Given the description of an element on the screen output the (x, y) to click on. 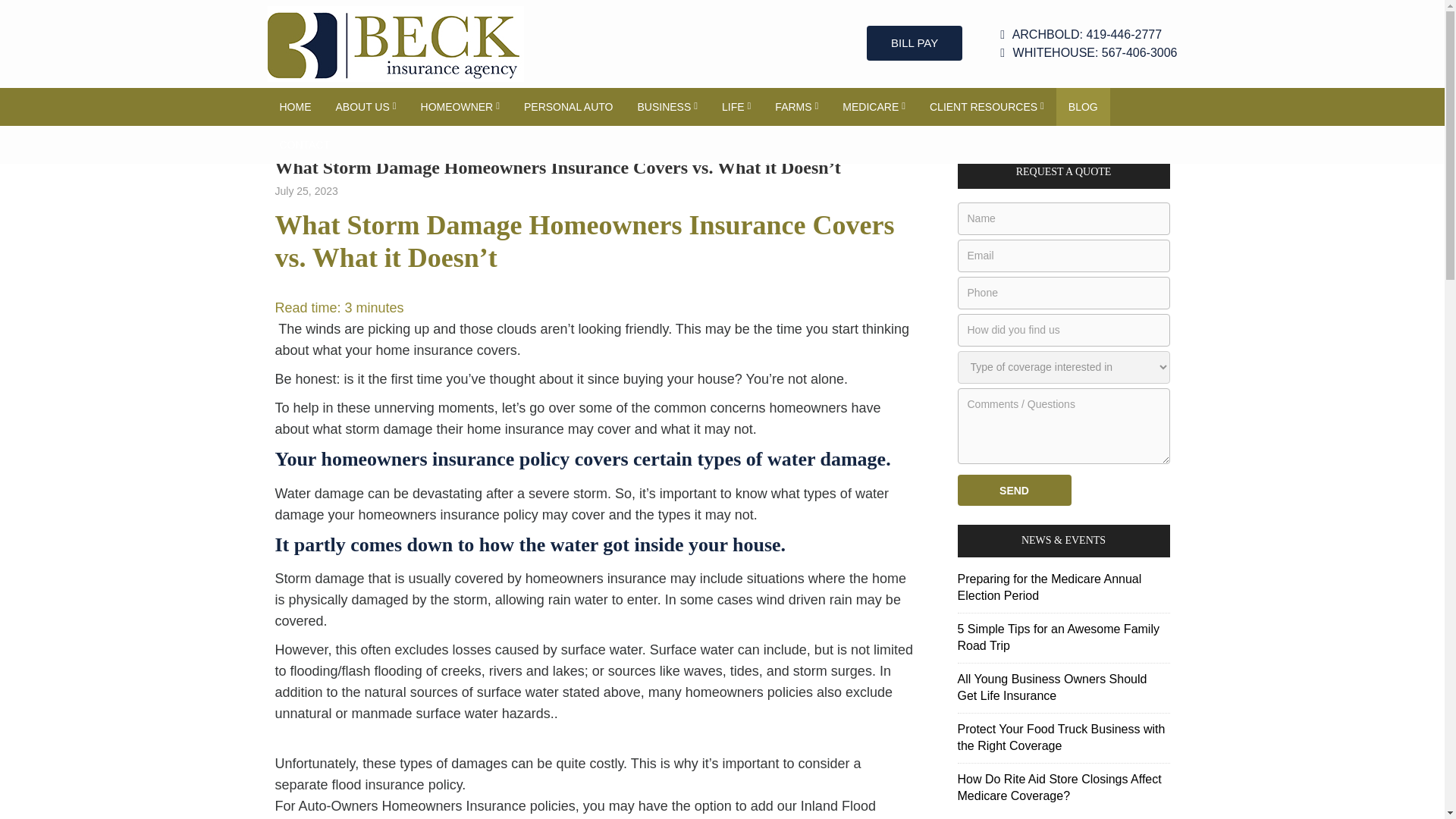
ARCHBOLD: 419-446-2777 (1088, 34)
Send (1013, 490)
CLIENT RESOURCES (987, 106)
BUSINESS (667, 106)
BILL PAY (914, 42)
ABOUT US (365, 106)
BLOG (1083, 106)
HOME (294, 106)
FARMS (795, 106)
HOMEOWNER (460, 106)
Read time: 3 minutes (339, 307)
WHITEHOUSE: 567-406-3006 (1088, 53)
MEDICARE (873, 106)
LIFE (736, 106)
PERSONAL AUTO (568, 106)
